Given the description of an element on the screen output the (x, y) to click on. 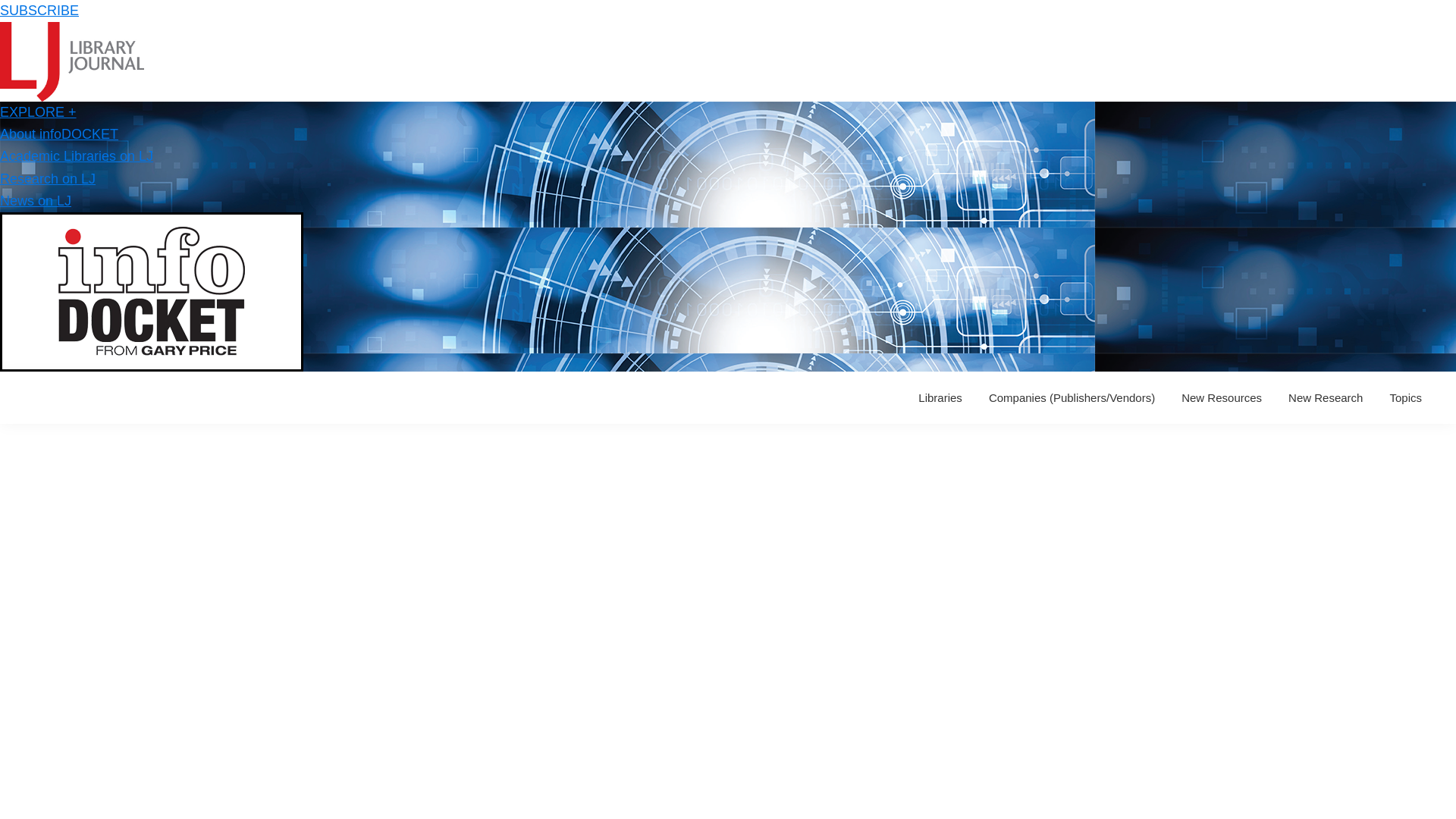
News on LJ (35, 200)
About infoDOCKET (58, 133)
New Resources (1221, 397)
New Research (1325, 397)
Academic Libraries on LJ (76, 155)
Research on LJ (48, 178)
SUBSCRIBE (39, 10)
Libraries (940, 397)
